Given the description of an element on the screen output the (x, y) to click on. 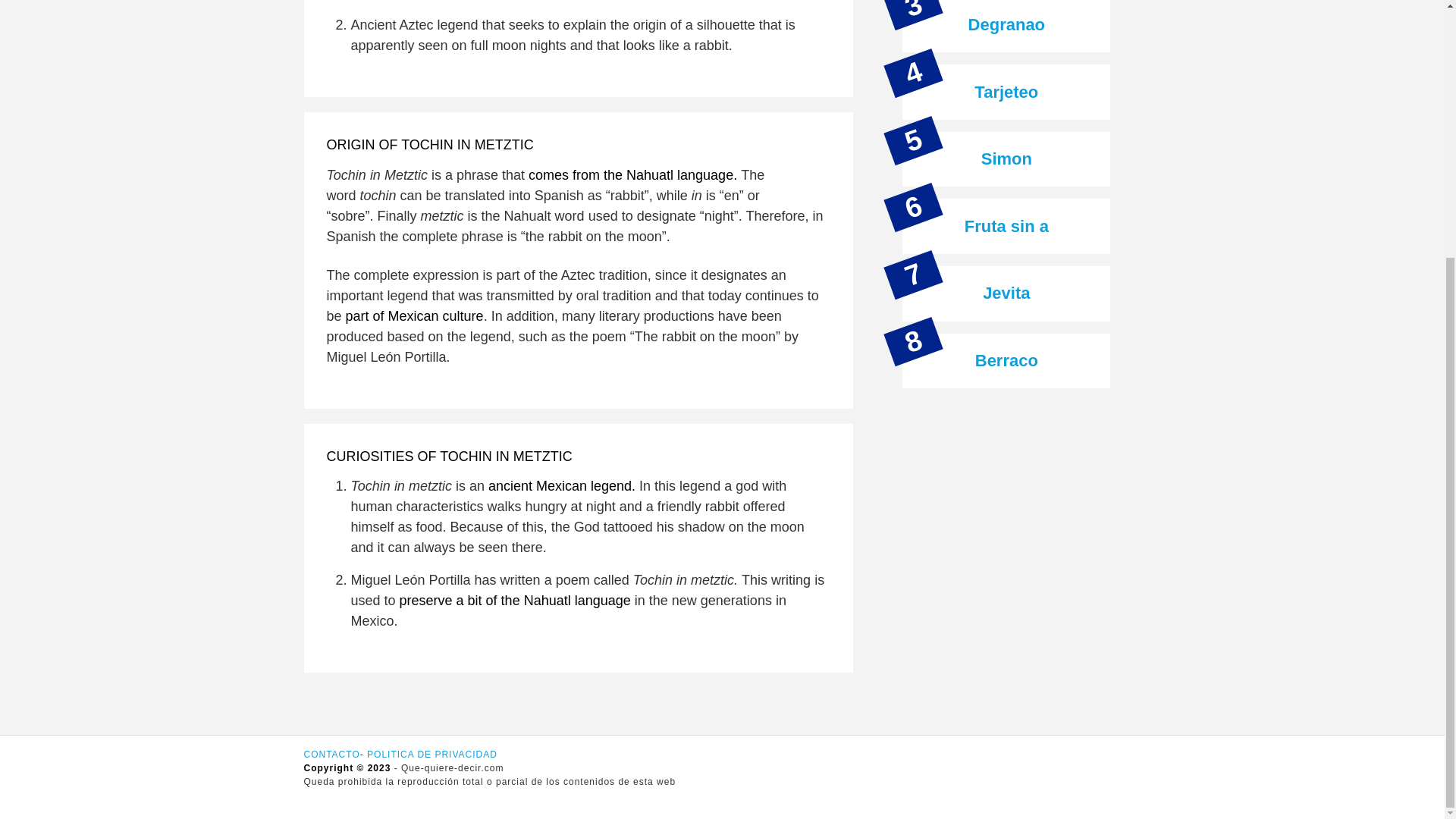
Tarjeteo (1006, 91)
CONTACTO (330, 754)
Simon (1006, 158)
Berraco (1006, 360)
Fruta sin a (1005, 226)
POLITICA DE PRIVACIDAD (431, 754)
Degranao (1006, 24)
Jevita (1005, 292)
